Given the description of an element on the screen output the (x, y) to click on. 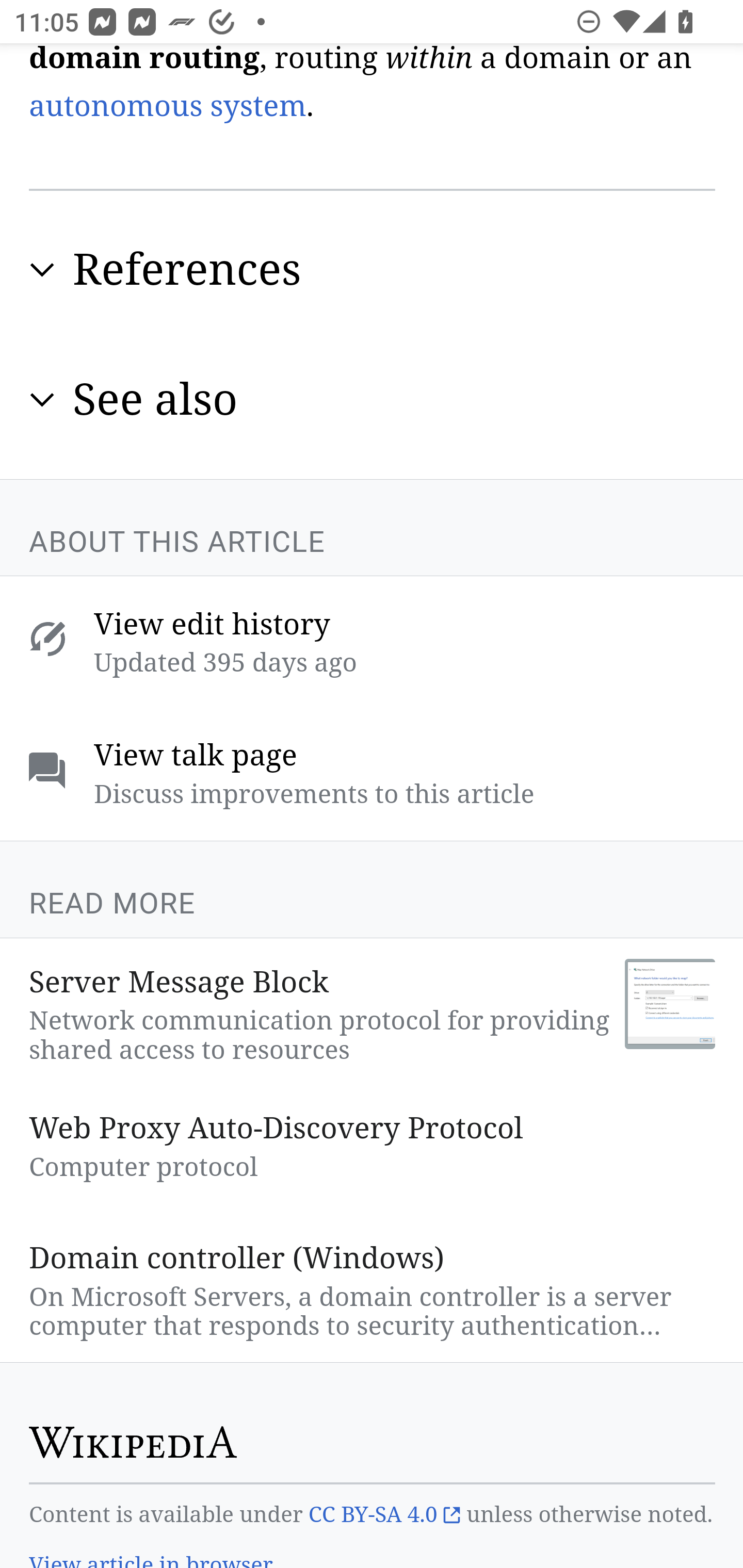
autonomous system (167, 105)
Expand section References (372, 269)
Expand section (41, 270)
Expand section See also (372, 399)
Expand section (41, 398)
CC BY-SA 4.0 (384, 1515)
